Given the description of an element on the screen output the (x, y) to click on. 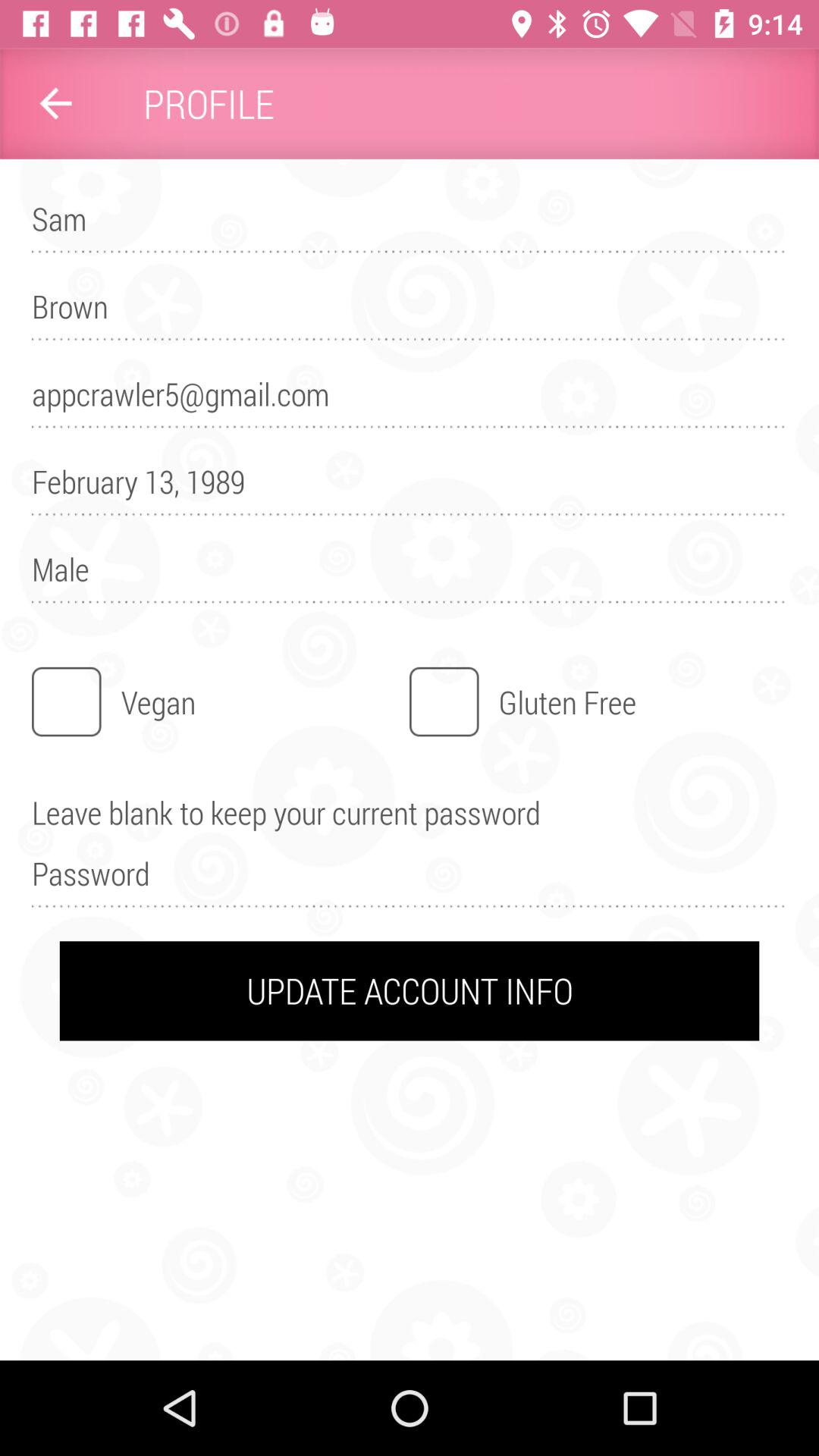
select the appcrawler5@gmail.com item (409, 400)
